Given the description of an element on the screen output the (x, y) to click on. 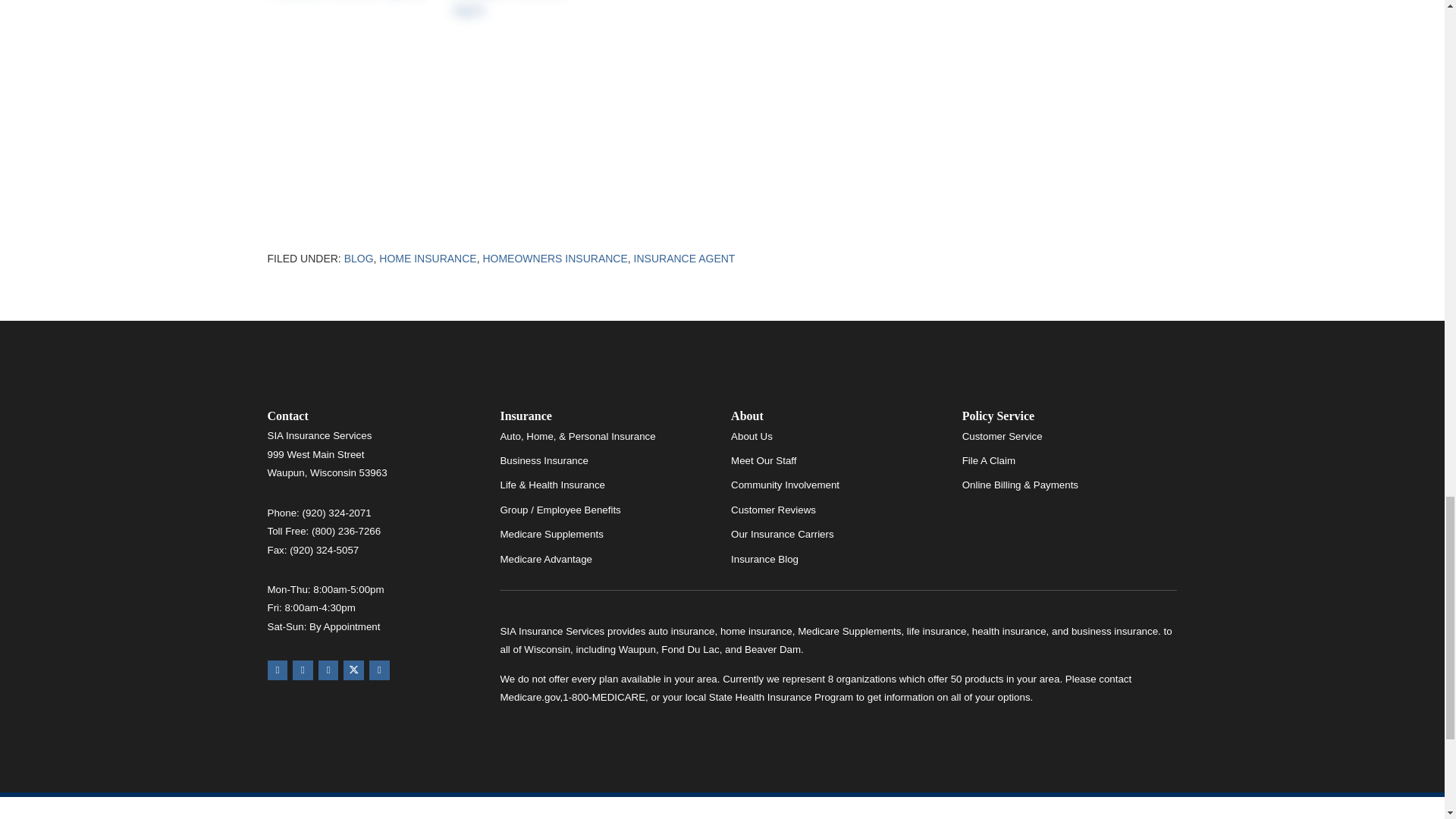
Home Insurance (427, 258)
X (353, 670)
Facebook (328, 670)
LinkedIn (379, 670)
Blog (358, 258)
Yelp (302, 670)
Homeowners Insurance (554, 258)
Google Maps (276, 670)
Insurance Agent (684, 258)
